Given the description of an element on the screen output the (x, y) to click on. 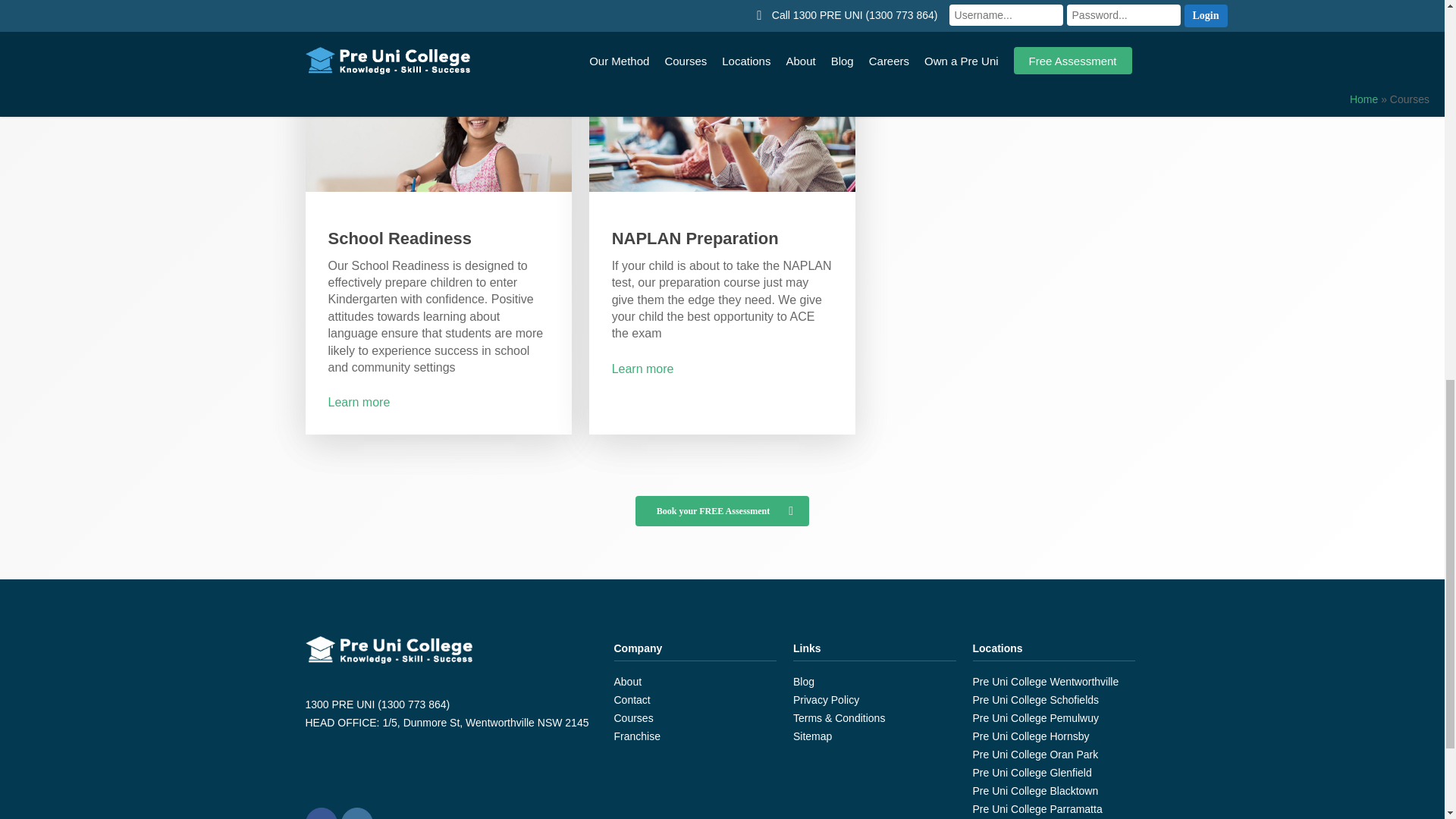
Pre Uni College on Instagram (356, 813)
Learn more (642, 368)
Book your FREE Assessment (721, 511)
Learn more (358, 401)
Pre Uni College on Facebook (320, 813)
